Given the description of an element on the screen output the (x, y) to click on. 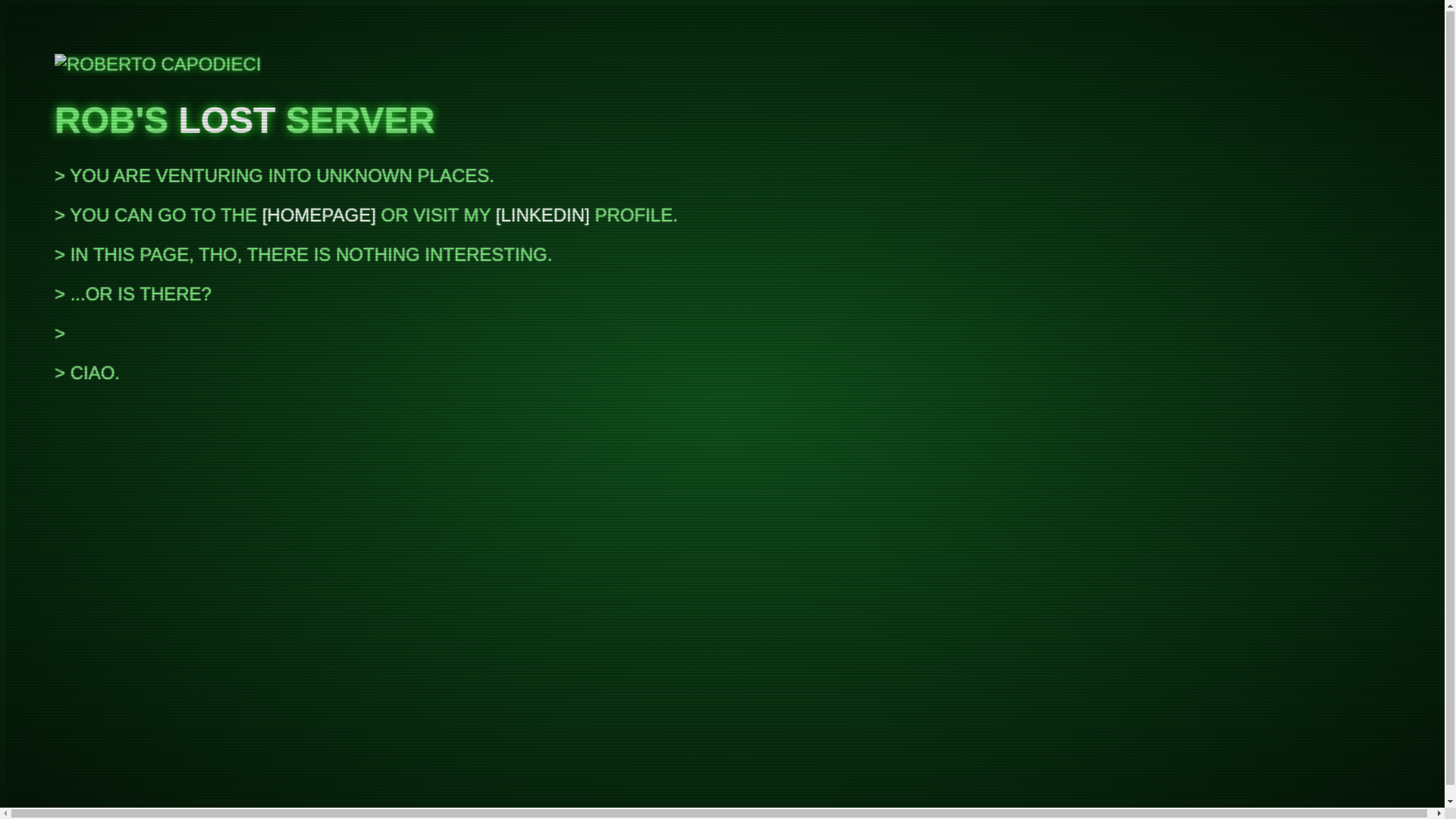
HOMEPAGE (318, 214)
LINKEDIN (542, 214)
